Given the description of an element on the screen output the (x, y) to click on. 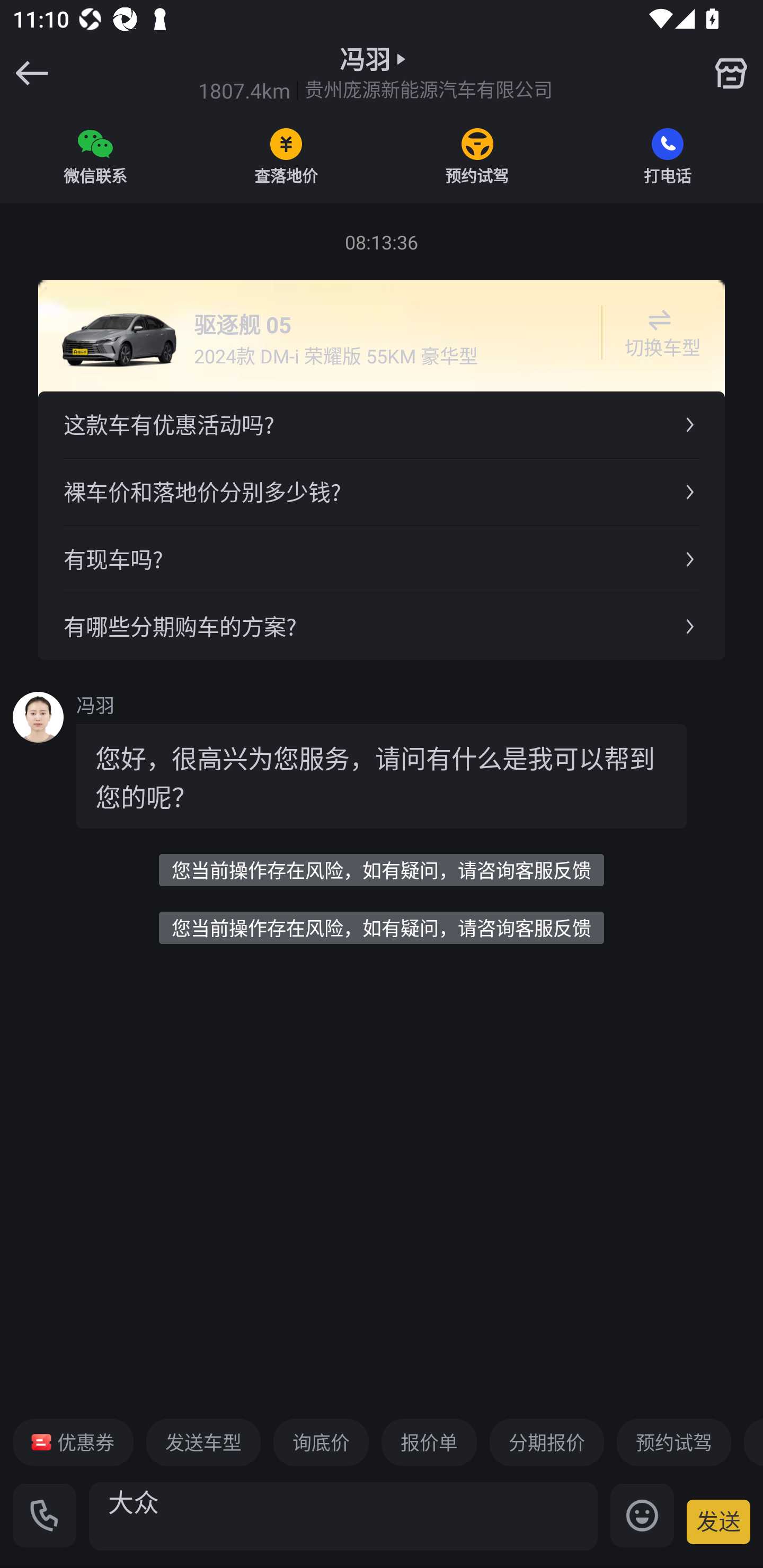
冯羽 1807.4km 贵州庞源新能源汽车有限公司 (374, 73)
 (730, 73)
微信联系 (95, 155)
查落地价 (285, 155)
预约试驾 (476, 155)
打电话 (667, 155)
切换车型 (659, 332)
这款车有优惠活动吗? (381, 424)
裸车价和落地价分别多少钱? (381, 492)
有现车吗? (381, 558)
有哪些分期购车的方案? (381, 626)
您好，很高兴为您服务，请问有什么是我可以帮到您的呢？ (381, 775)
优惠券 (72, 1442)
发送车型 (203, 1442)
询底价 (320, 1442)
报价单 (428, 1442)
分期报价 (546, 1442)
预约试驾 (673, 1442)
大众
 (343, 1515)
发送 (718, 1521)
